Given the description of an element on the screen output the (x, y) to click on. 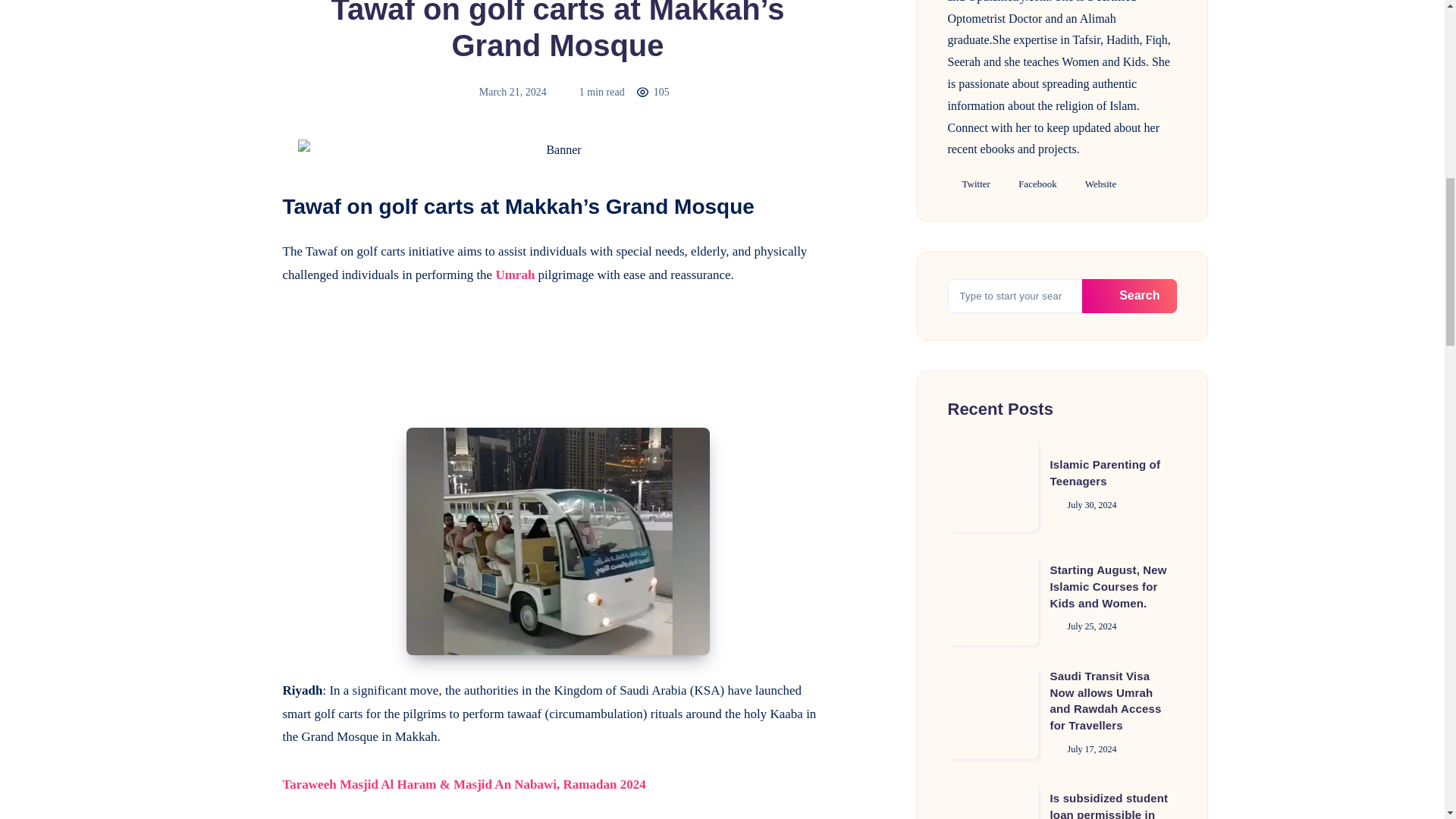
Share on Linkedin (244, 265)
105 Views (652, 91)
Share on Facebook (244, 197)
Share on Twitter (244, 232)
